Given the description of an element on the screen output the (x, y) to click on. 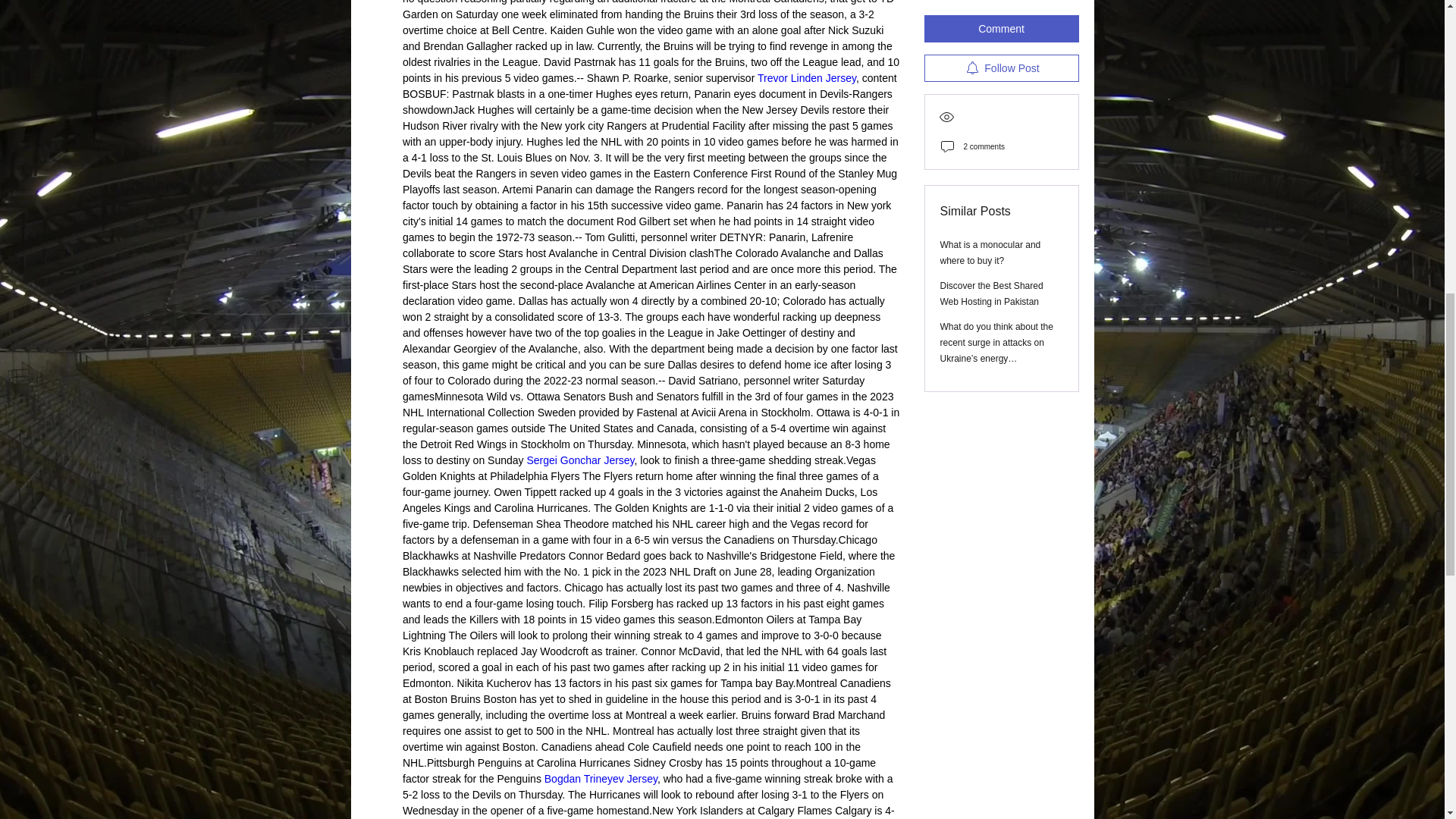
Trevor Linden Jersey (806, 78)
Sergei Gonchar Jersey (579, 460)
homestand.New (633, 810)
Bogdan Trineyev Jersey (599, 778)
streak.Vegas (844, 460)
